Given the description of an element on the screen output the (x, y) to click on. 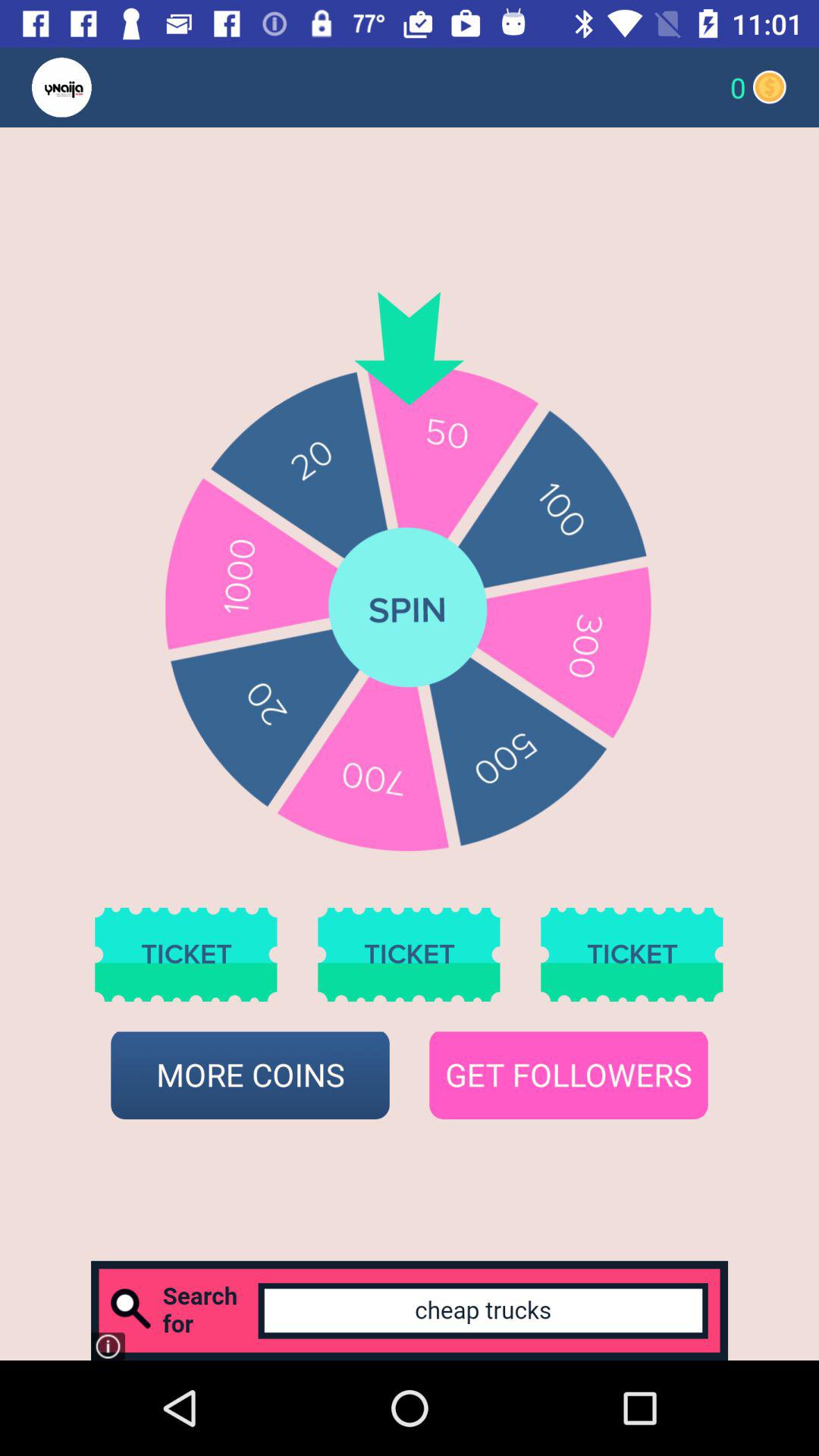
visit our homepage (91, 87)
